Given the description of an element on the screen output the (x, y) to click on. 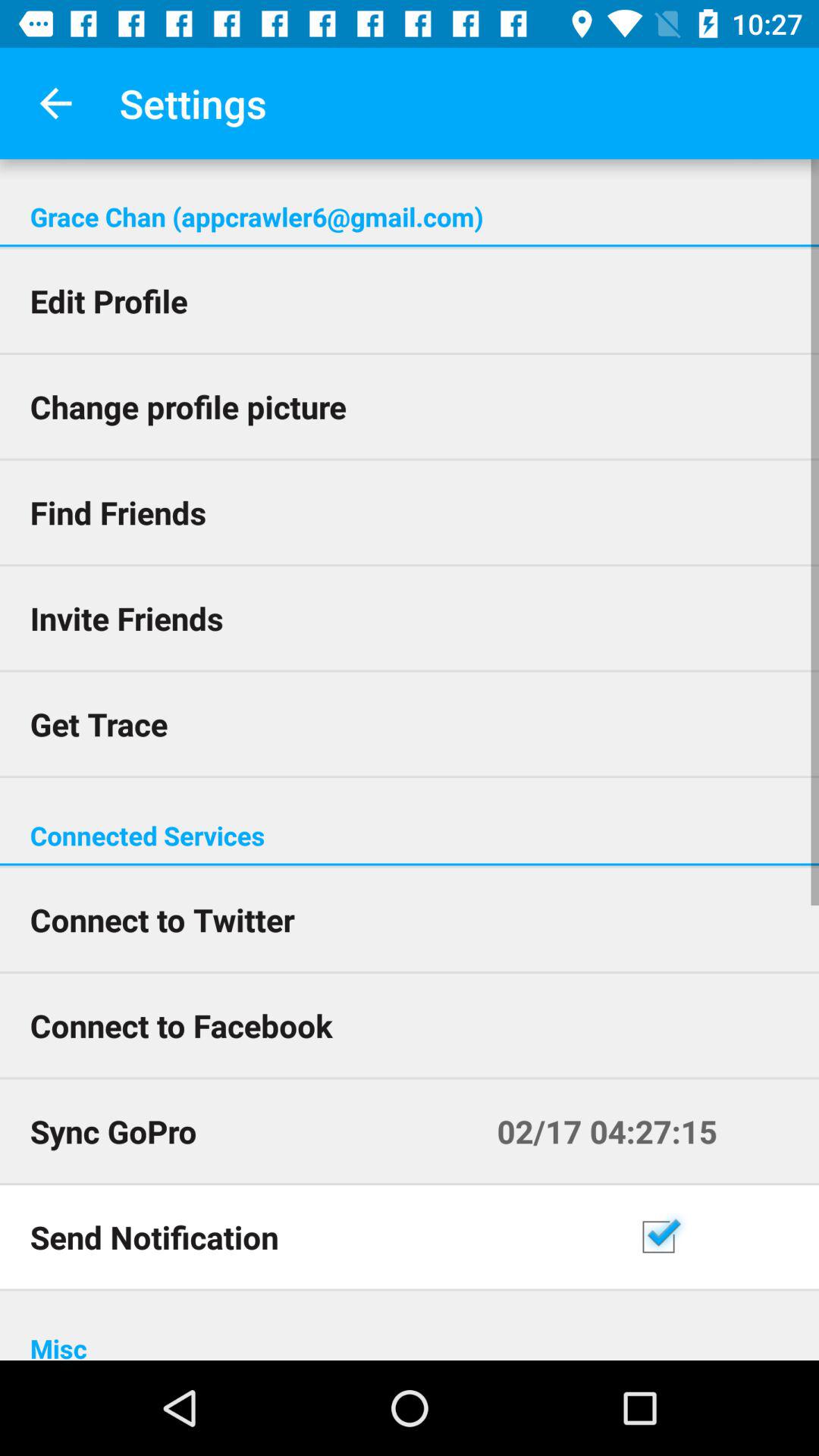
flip until grace chan appcrawler6 icon (409, 216)
